Given the description of an element on the screen output the (x, y) to click on. 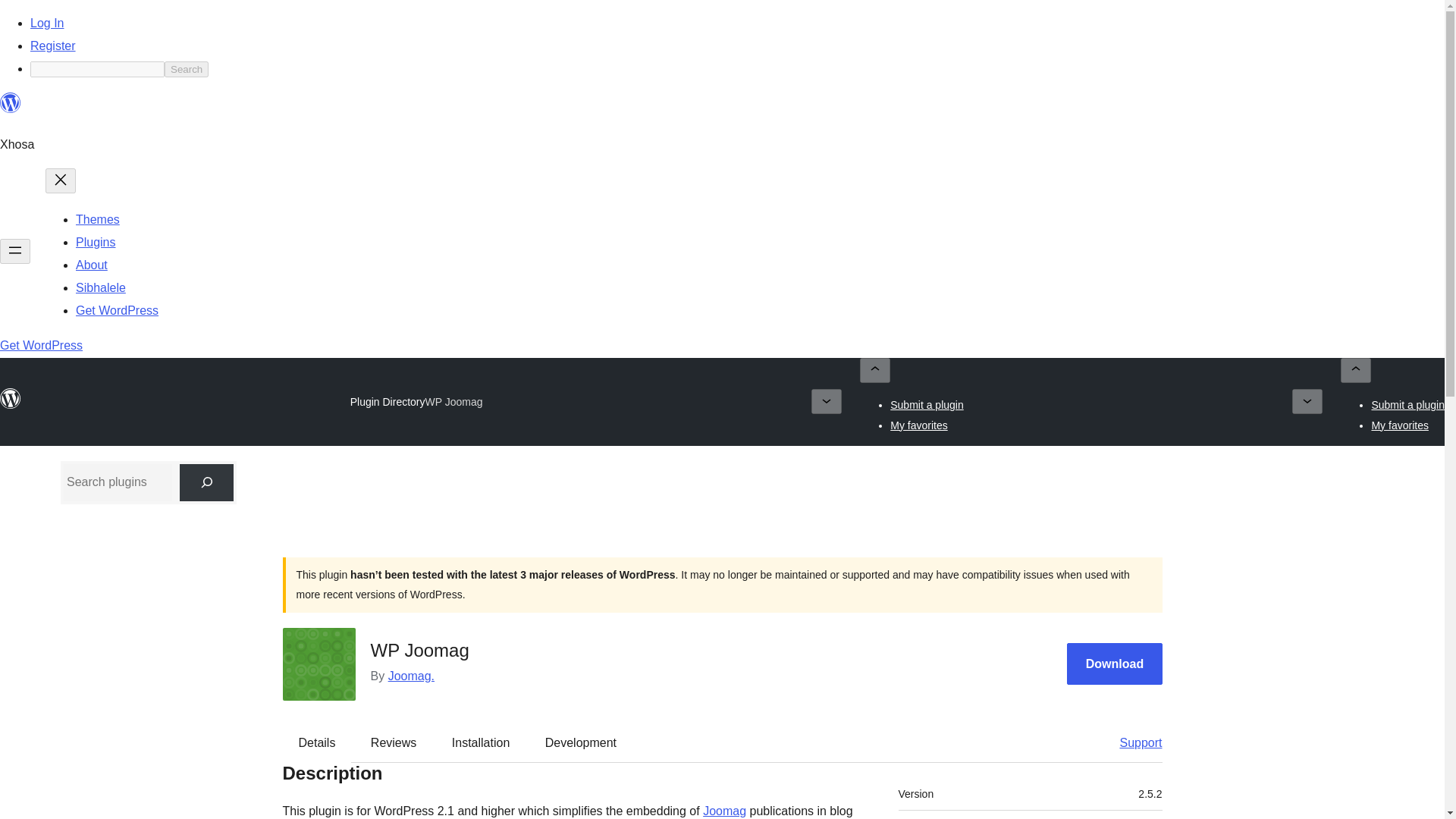
WP Joomag (454, 401)
Themes (97, 219)
Development (580, 742)
My favorites (918, 424)
Submit a plugin (926, 404)
Search (186, 68)
Get WordPress (116, 309)
Installation (480, 742)
WordPress.org (10, 102)
Plugin Directory (387, 401)
